Given the description of an element on the screen output the (x, y) to click on. 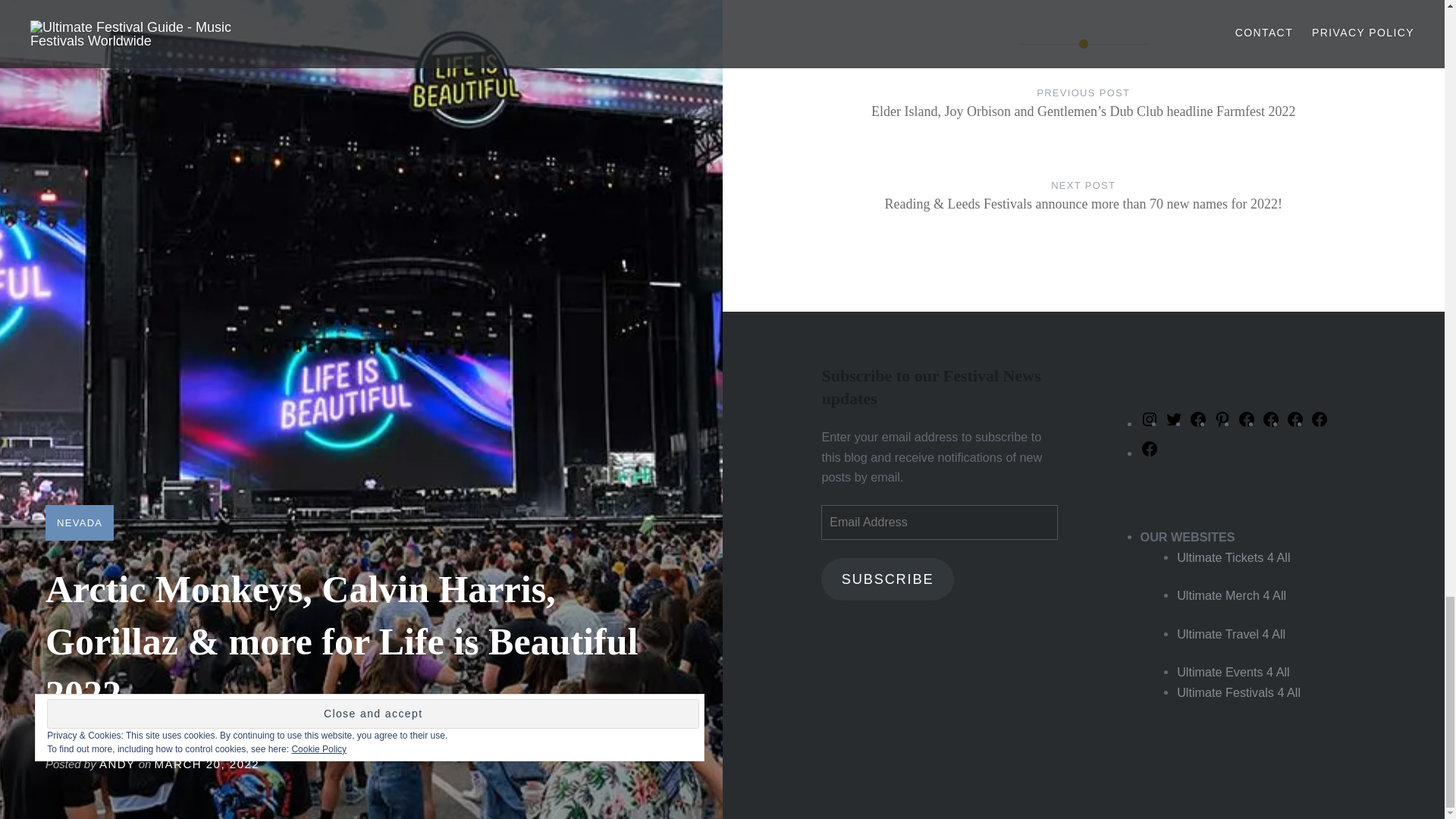
Ultimate Travel 4 All (1230, 633)
Ultimate Merch 4 All (1230, 594)
Facebook (1270, 423)
Facebook (1198, 423)
Facebook (1318, 423)
SUBSCRIBE (887, 578)
Pinterest (1221, 423)
Ultimate Festivals 4 All (1238, 691)
Ultimate Events 4 All (1232, 671)
Facebook (1294, 423)
Facebook (1246, 423)
Instagram (1149, 423)
Ultimate Tickets 4 All (1233, 557)
Twitter (1173, 423)
Facebook (1149, 453)
